Given the description of an element on the screen output the (x, y) to click on. 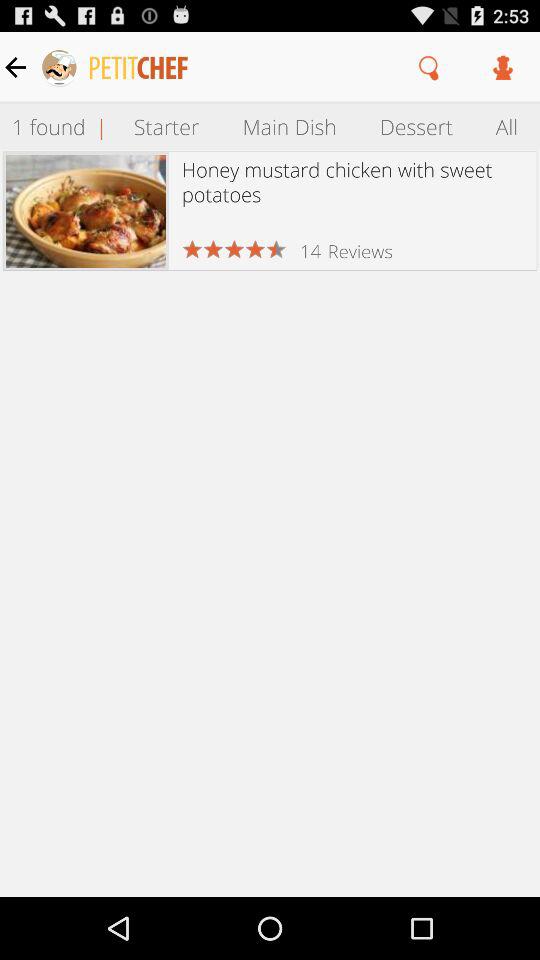
press icon above honey mustard chicken (416, 126)
